Given the description of an element on the screen output the (x, y) to click on. 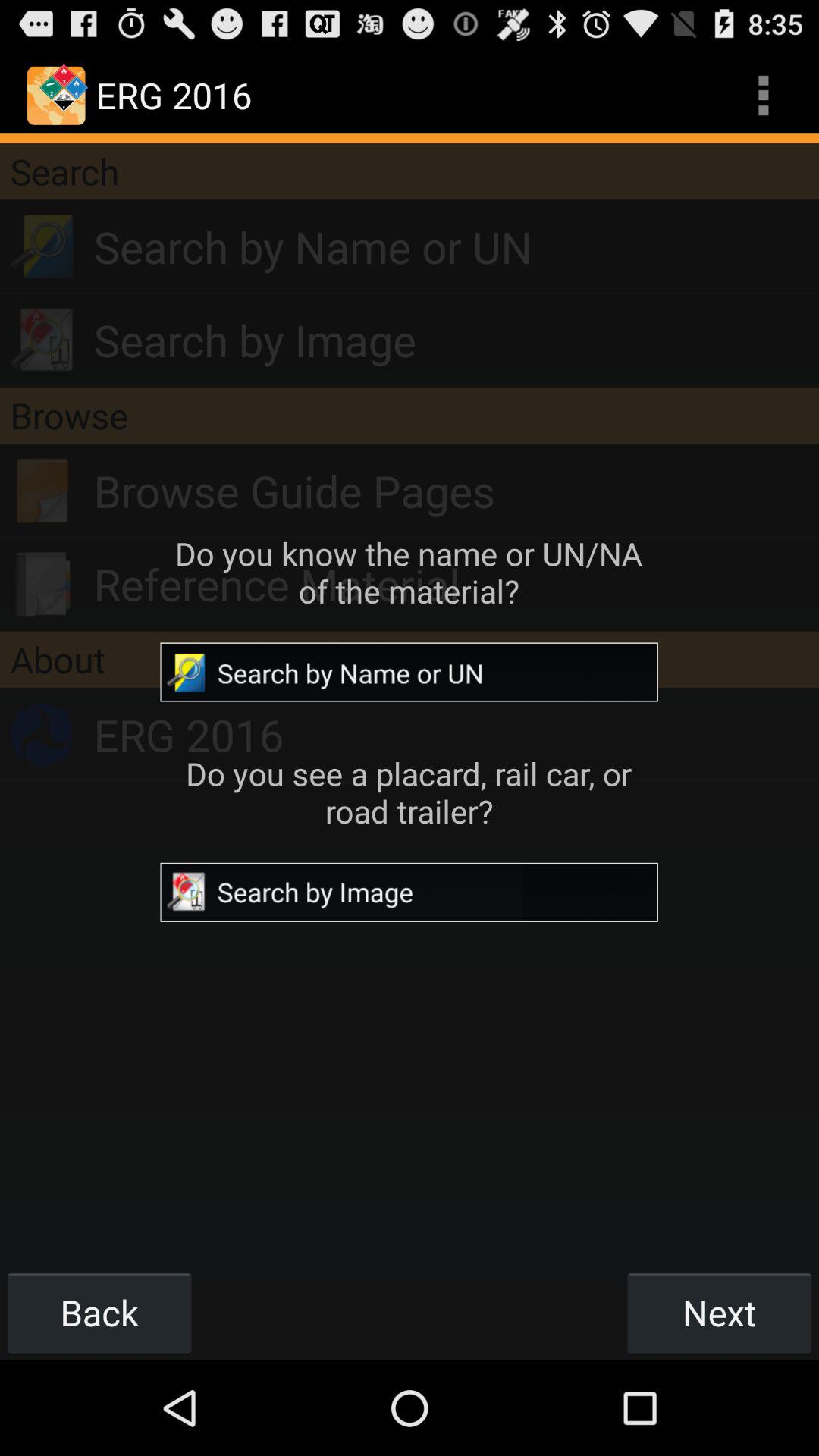
click the item next to next (99, 1312)
